Given the description of an element on the screen output the (x, y) to click on. 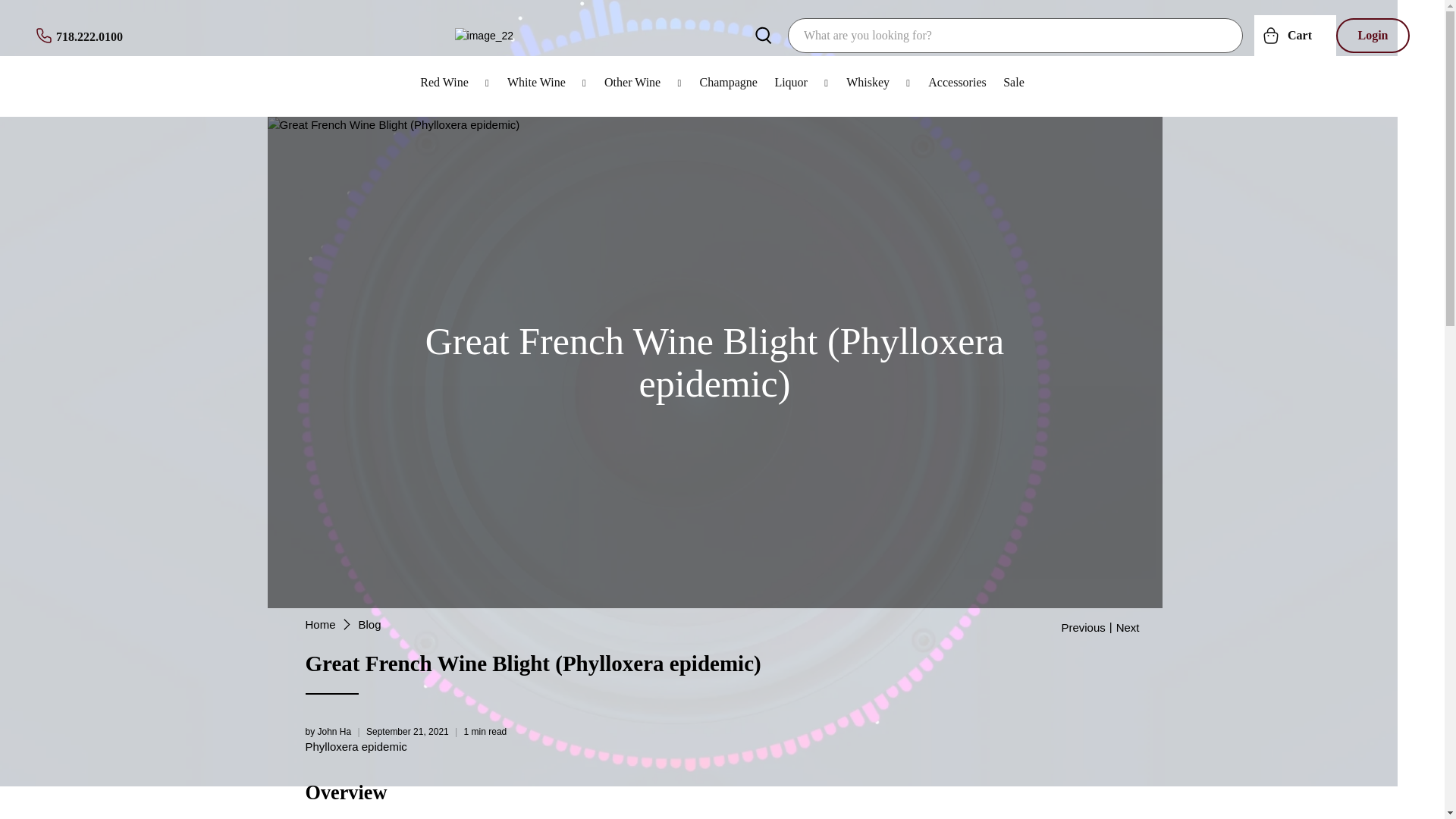
TheLiquorStore.com (319, 624)
Other Wine (642, 82)
Blog (369, 624)
Red Wine (455, 82)
Login (1372, 35)
Liquor (801, 82)
Previous (1083, 627)
Next (1128, 627)
718.222.0100 (78, 35)
Cart (1294, 35)
